Given the description of an element on the screen output the (x, y) to click on. 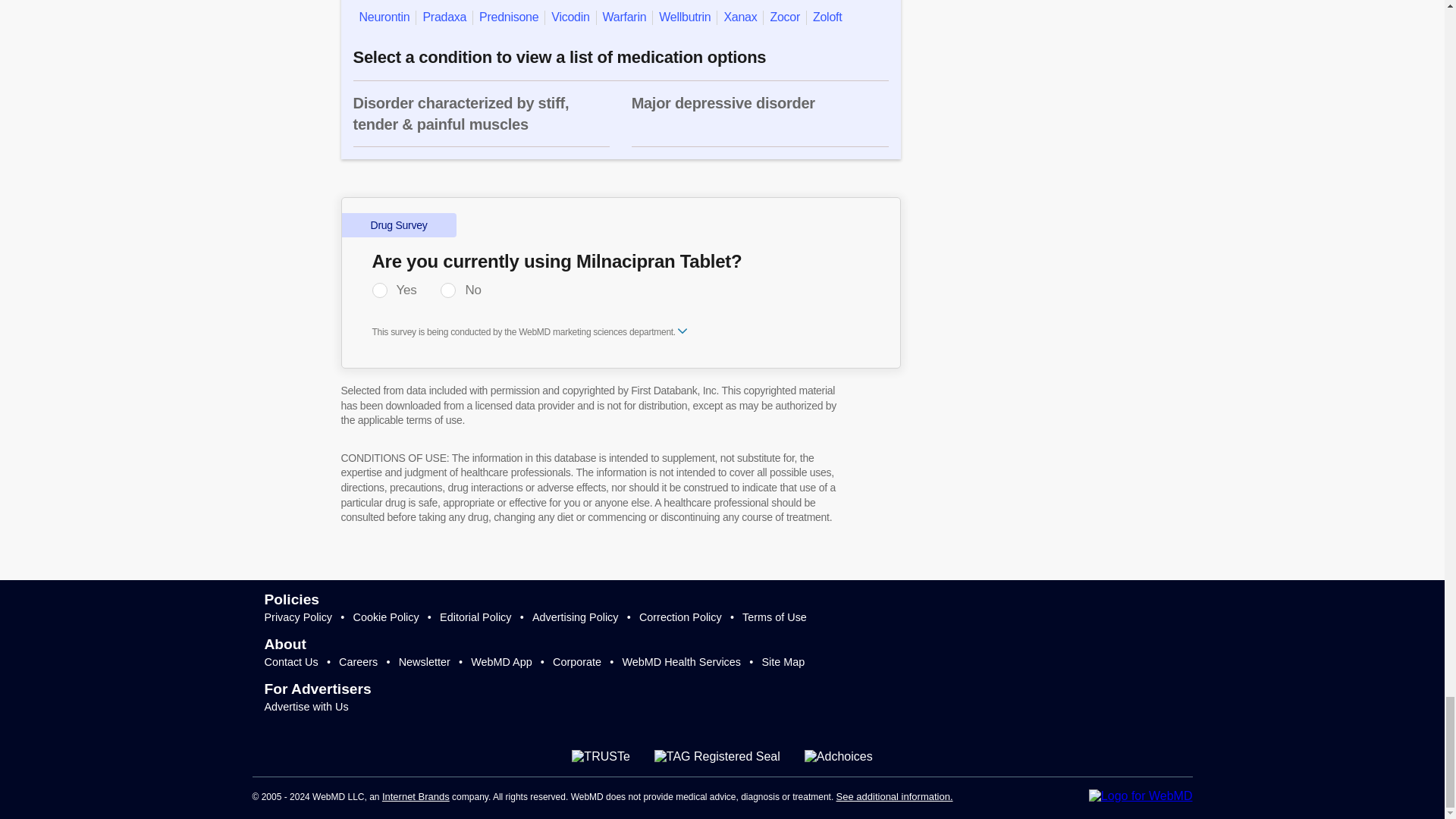
TRUSTe Privacy Certification (600, 756)
TAG Registered Seal (716, 756)
WebMD: Better information. Better health. (1140, 796)
Adchoices (838, 756)
